Given the description of an element on the screen output the (x, y) to click on. 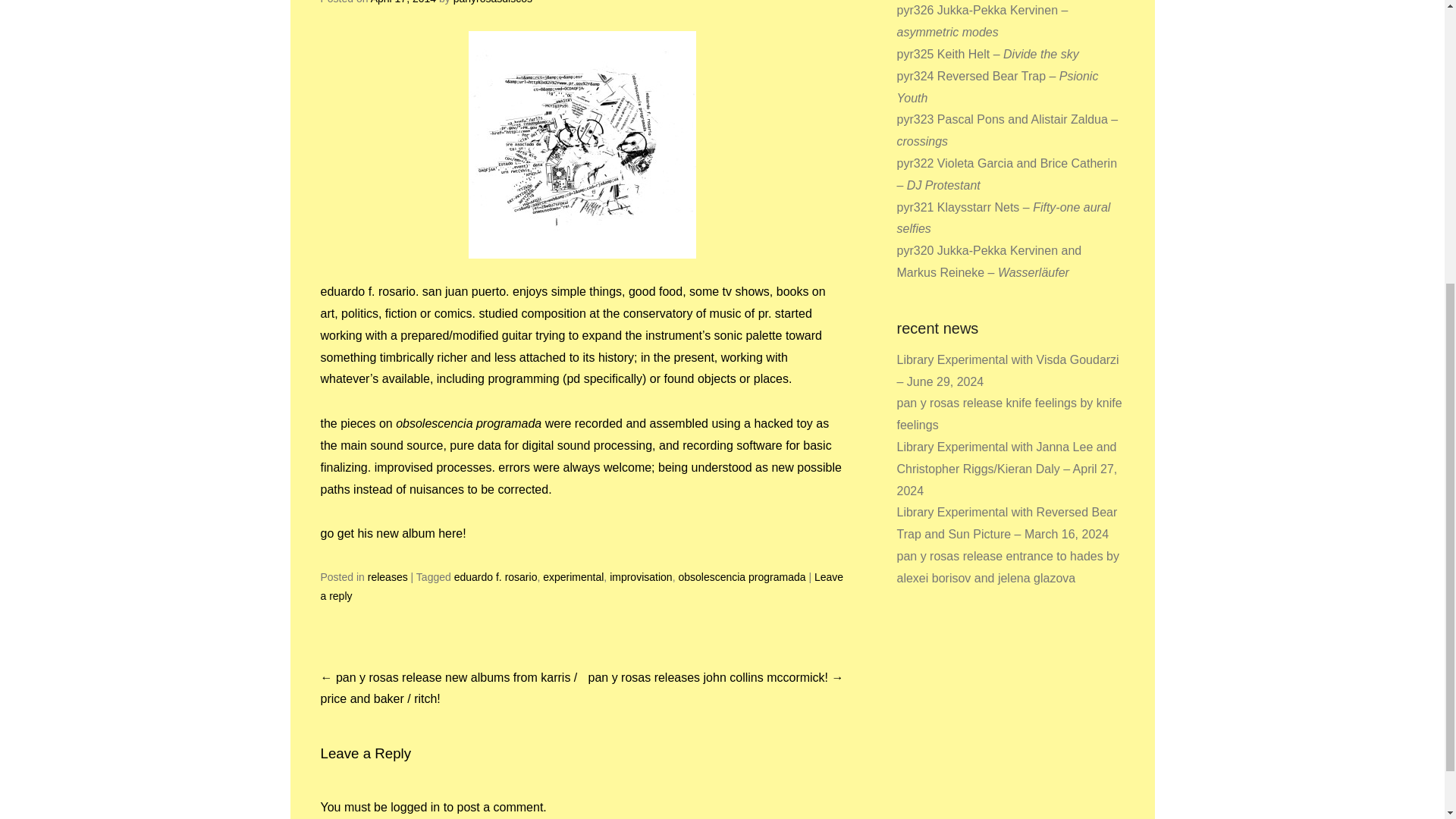
releases (387, 576)
improvisation (640, 576)
obsolescencia programada (741, 576)
eduardo f. rosario (495, 576)
Leave a reply (581, 585)
here! (451, 533)
panyrosasdiscos (492, 2)
View all posts by panyrosasdiscos (492, 2)
April 17, 2014 (403, 2)
logged in (414, 807)
experimental (573, 576)
6:30 pm (403, 2)
